Given the description of an element on the screen output the (x, y) to click on. 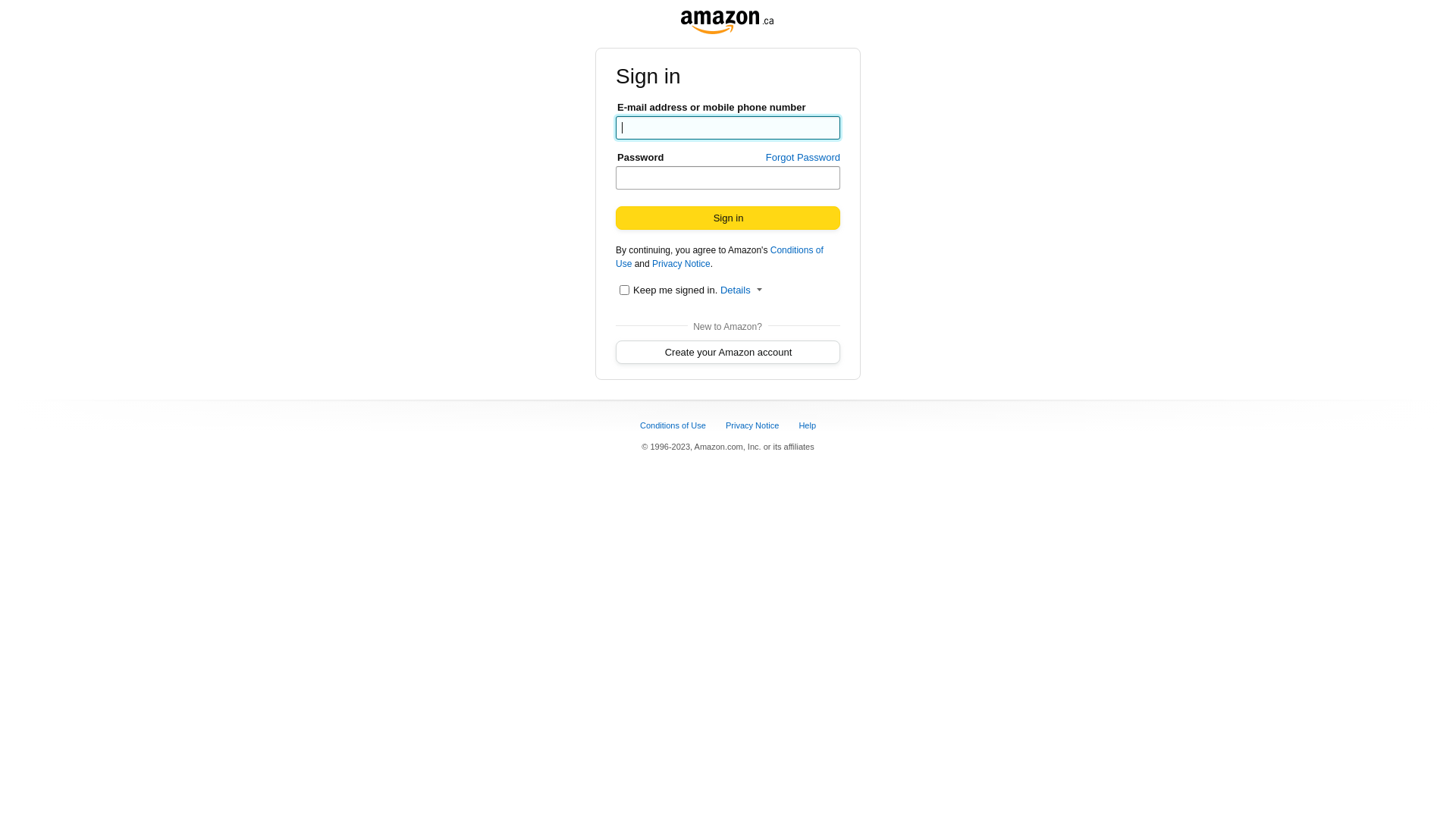
Conditions of Use Element type: text (719, 256)
Conditions of Use Element type: text (674, 424)
Help Element type: text (808, 424)
Forgot Password Element type: text (802, 157)
Create your Amazon account Element type: text (727, 352)
Privacy Notice Element type: text (681, 263)
Privacy Notice Element type: text (753, 424)
Details Element type: text (741, 289)
